Given the description of an element on the screen output the (x, y) to click on. 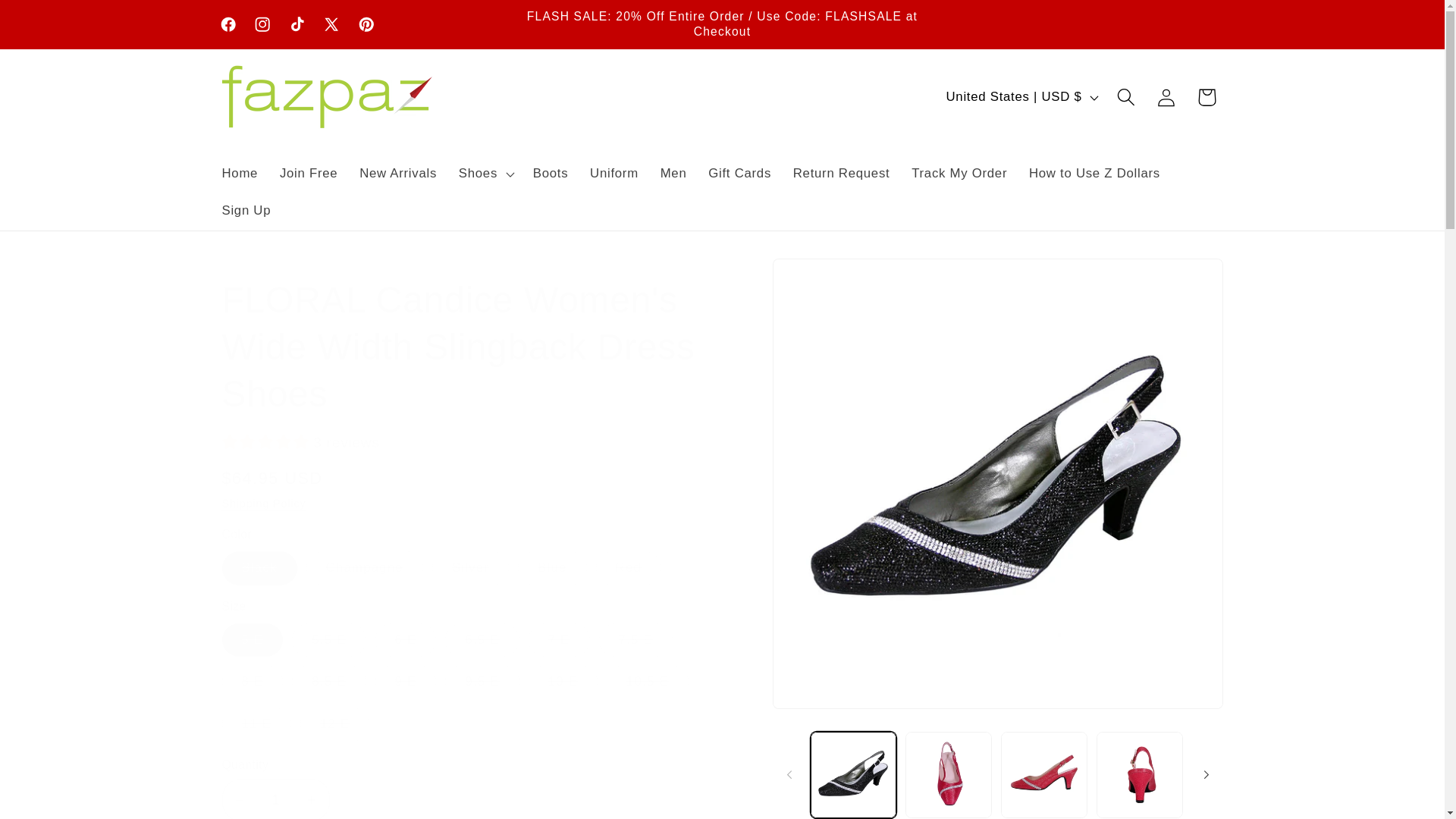
Instagram (263, 23)
TikTok (296, 23)
Home (239, 173)
Join Free (309, 173)
